Given the description of an element on the screen output the (x, y) to click on. 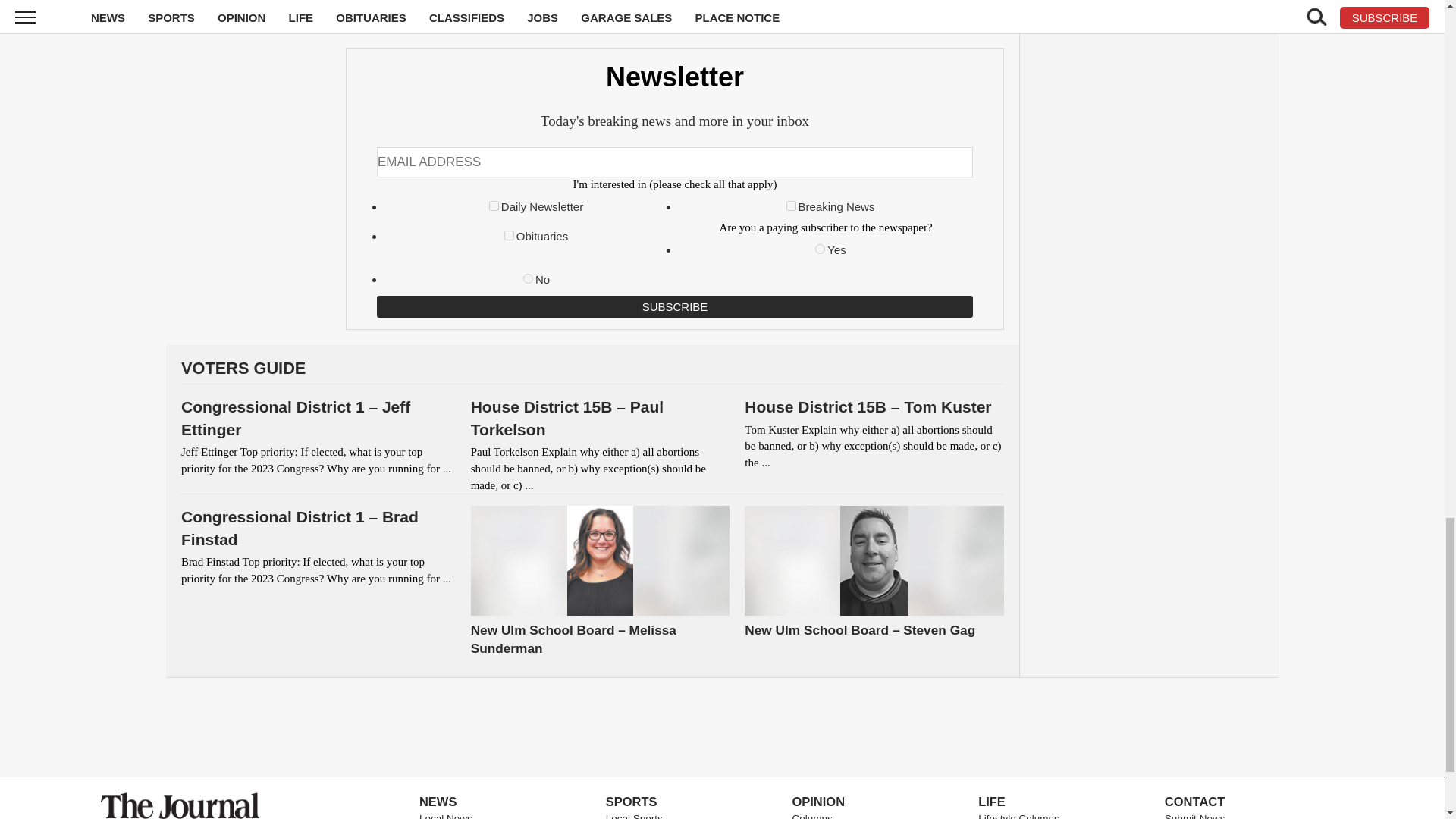
No (527, 278)
4 (508, 235)
3rd party ad content (721, 726)
1 (494, 205)
Subscribe (674, 306)
Yes (820, 248)
2 (791, 205)
